Given the description of an element on the screen output the (x, y) to click on. 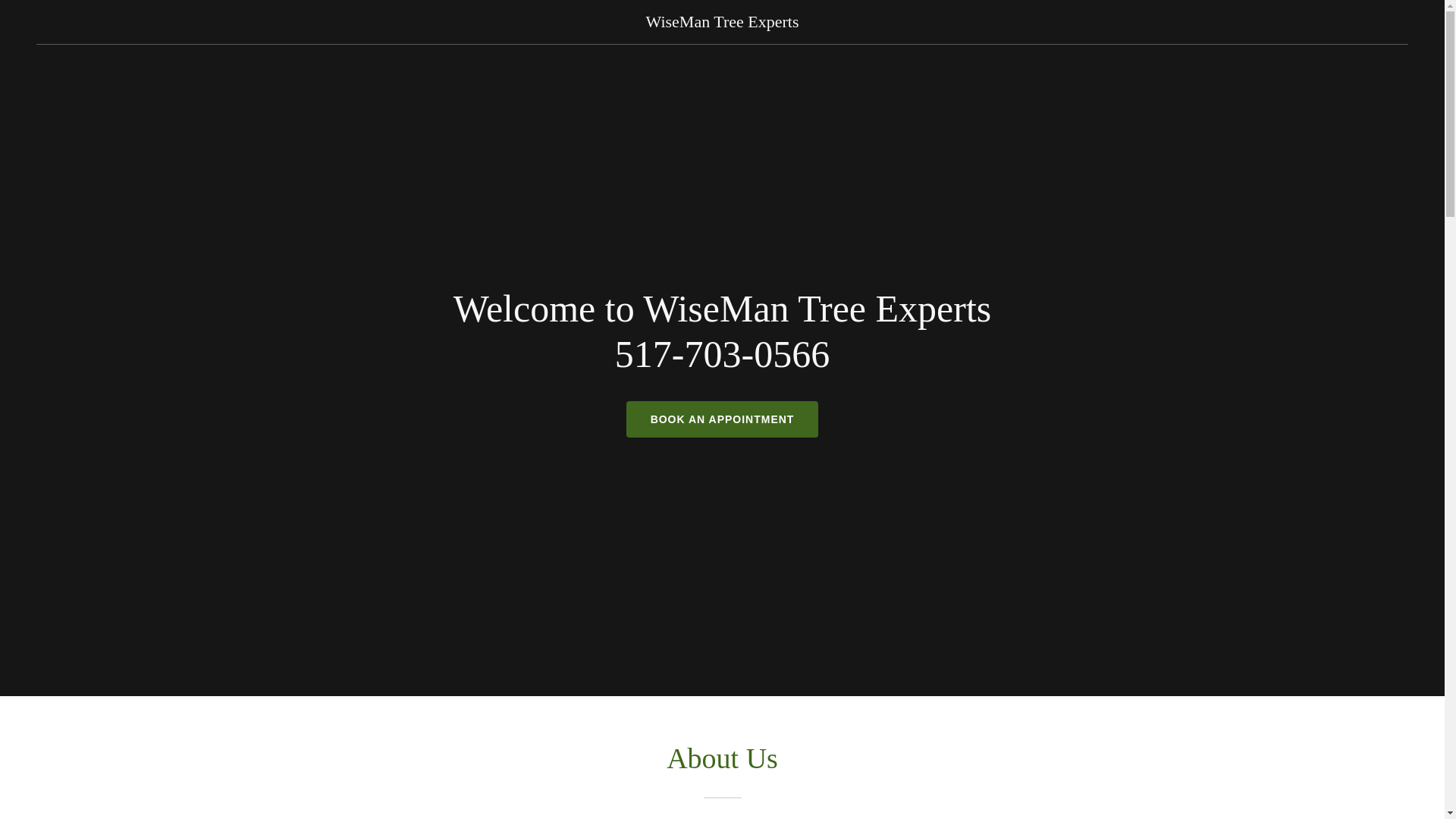
WiseMan Tree Experts (722, 21)
BOOK AN APPOINTMENT (722, 419)
WiseMan Tree Experts (722, 21)
